Given the description of an element on the screen output the (x, y) to click on. 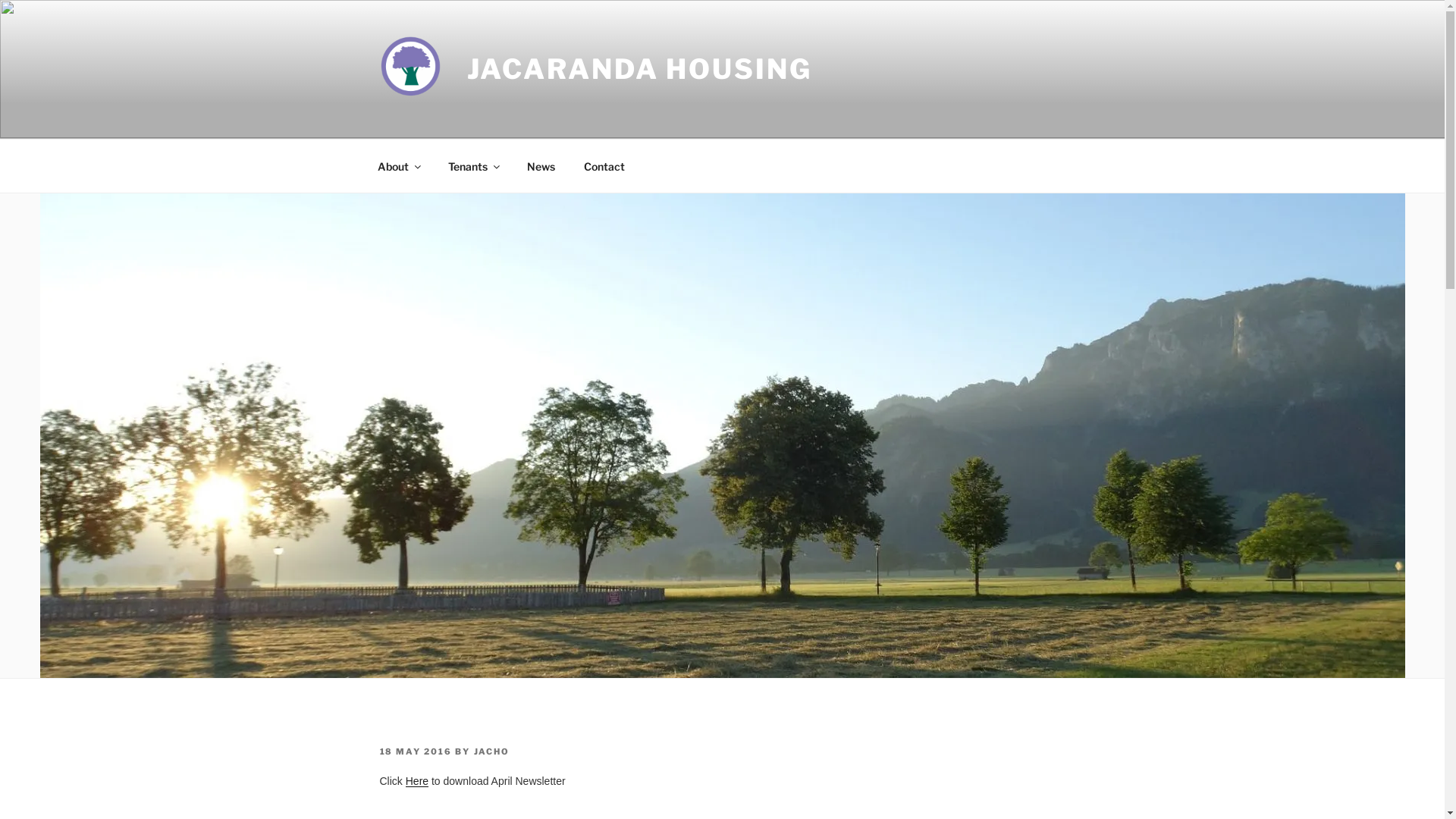
News Element type: text (541, 165)
About Element type: text (398, 165)
Here Element type: text (416, 781)
JACHO Element type: text (491, 751)
JACARANDA HOUSING Element type: text (639, 68)
18 MAY 2016 Element type: text (415, 751)
Contact Element type: text (603, 165)
Tenants Element type: text (473, 165)
